Given the description of an element on the screen output the (x, y) to click on. 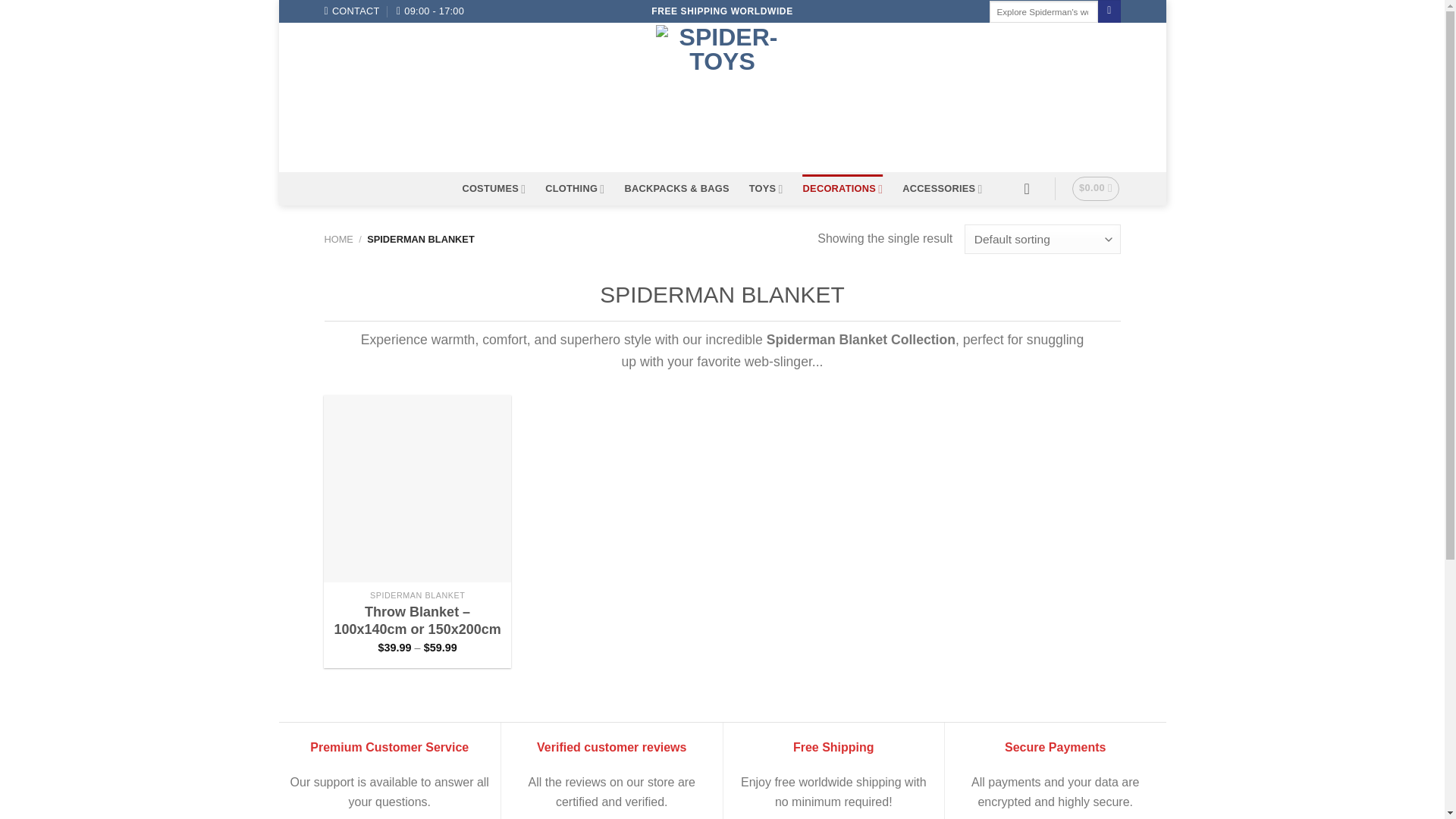
09:00 - 17:00  (430, 11)
CLOTHING (574, 188)
COSTUMES (493, 188)
Spider-toys - Welcome to our Spiderman Shop! (721, 96)
09:00 - 17:00 (430, 11)
DECORATIONS (843, 188)
TOYS (766, 188)
CONTACT (352, 11)
